Given the description of an element on the screen output the (x, y) to click on. 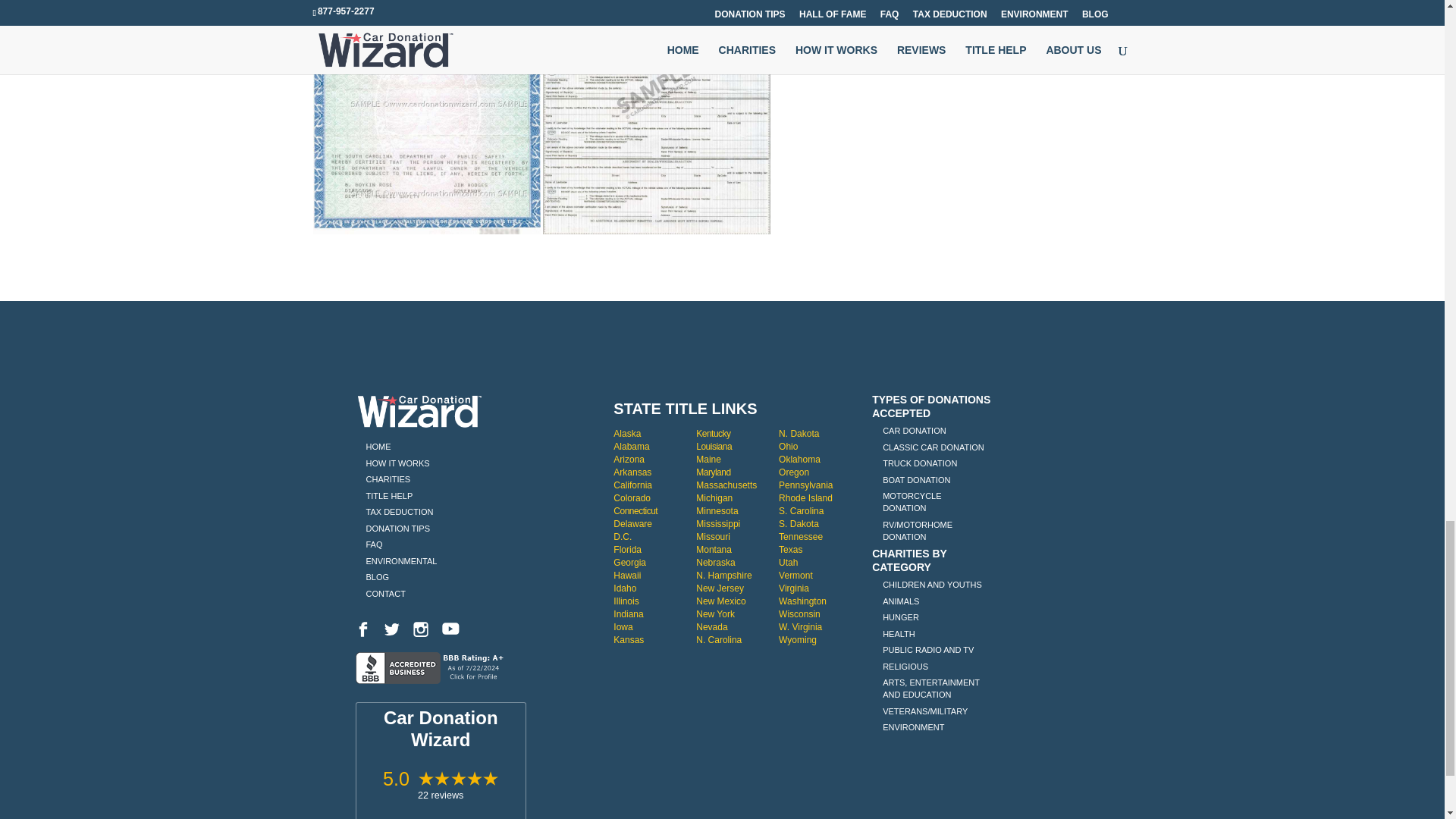
California Title Instructions (632, 484)
Connecticut Title Instructions (635, 511)
Alabama Title Instructions (630, 446)
Arkansas Title Instructions (631, 471)
Georgia Title Instructions (629, 562)
Indiana Title Instructions (627, 614)
Delaware Title Instructions (632, 523)
Illinois Title Instructions (625, 601)
Florida Title Instructions (627, 549)
Delaware Title Instructions (621, 536)
Hawaii Title Instructions (626, 575)
Arizona Title Instructions (628, 459)
Colorado Title Instructions (631, 498)
Idaho Title Instructions (624, 588)
Alaska Title Instructions (626, 433)
